Given the description of an element on the screen output the (x, y) to click on. 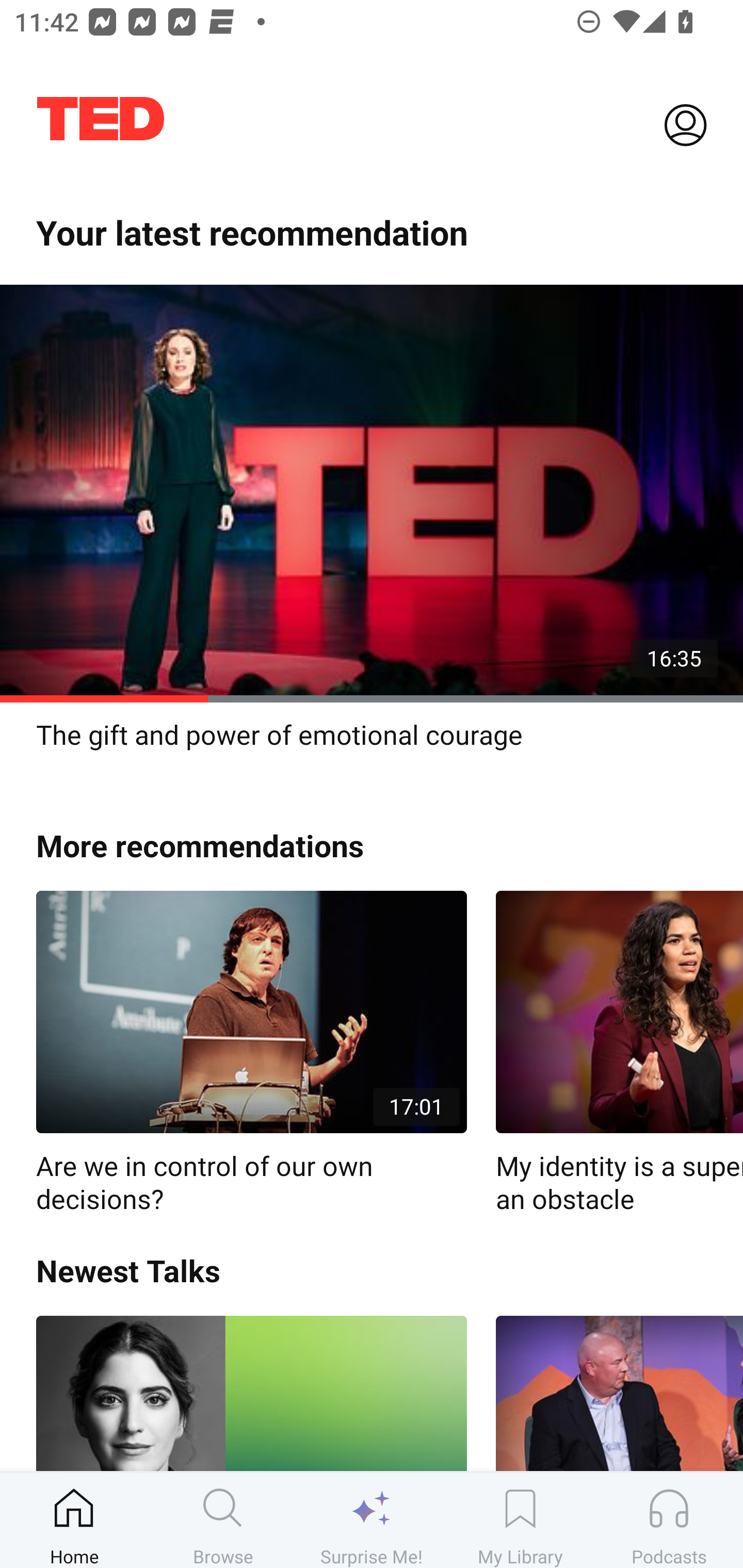
17:01 Are we in control of our own decisions? (251, 1053)
My identity is a superpower -- not an obstacle (619, 1053)
Home (74, 1520)
Browse (222, 1520)
Surprise Me! (371, 1520)
My Library (519, 1520)
Podcasts (668, 1520)
